Given the description of an element on the screen output the (x, y) to click on. 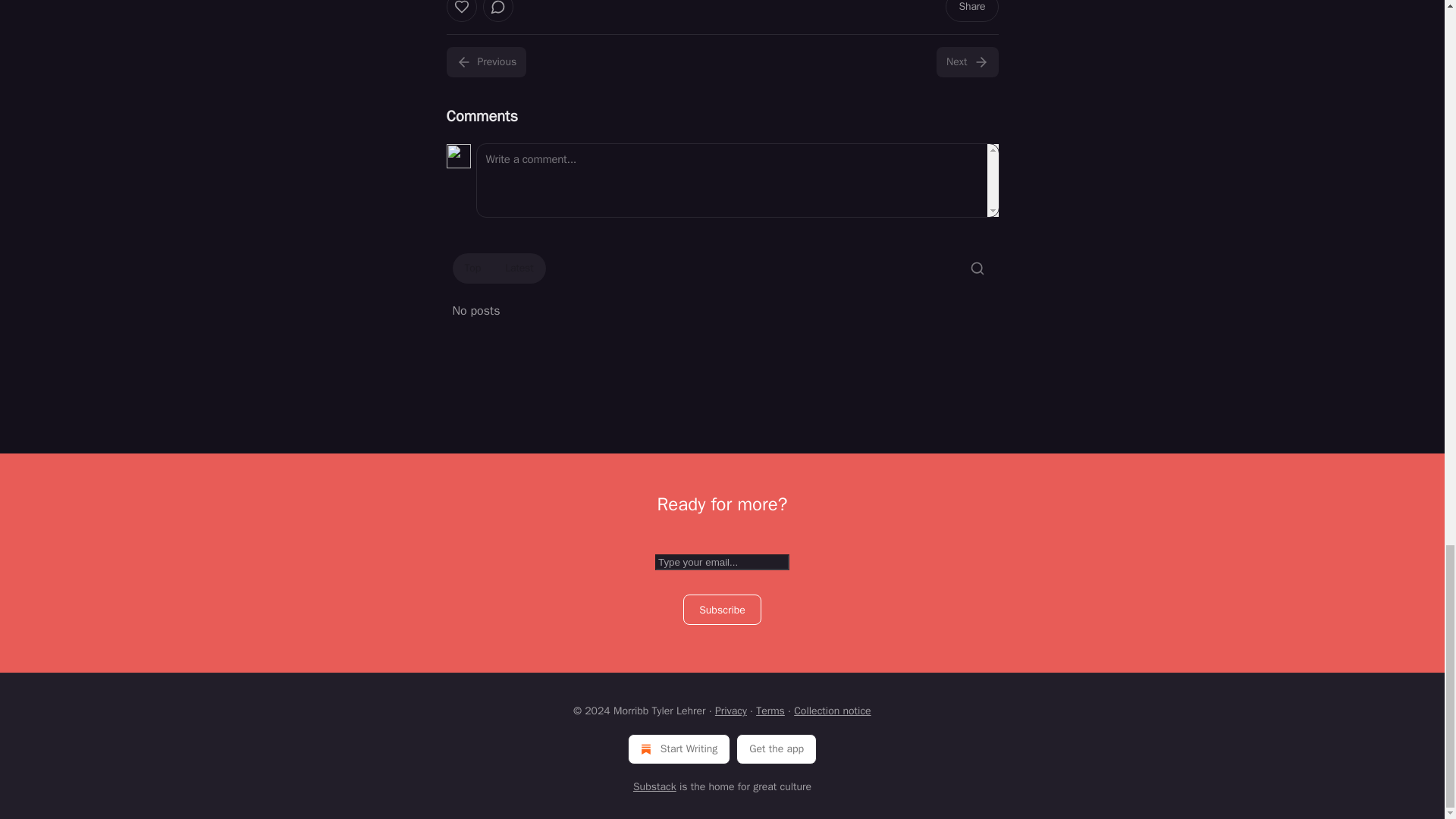
Collection notice (831, 710)
Terms (769, 710)
Top (471, 268)
Share (970, 11)
Next (966, 61)
Subscribe (721, 609)
Start Writing (678, 748)
Privacy (730, 710)
Previous (485, 61)
Latest (518, 268)
